Given the description of an element on the screen output the (x, y) to click on. 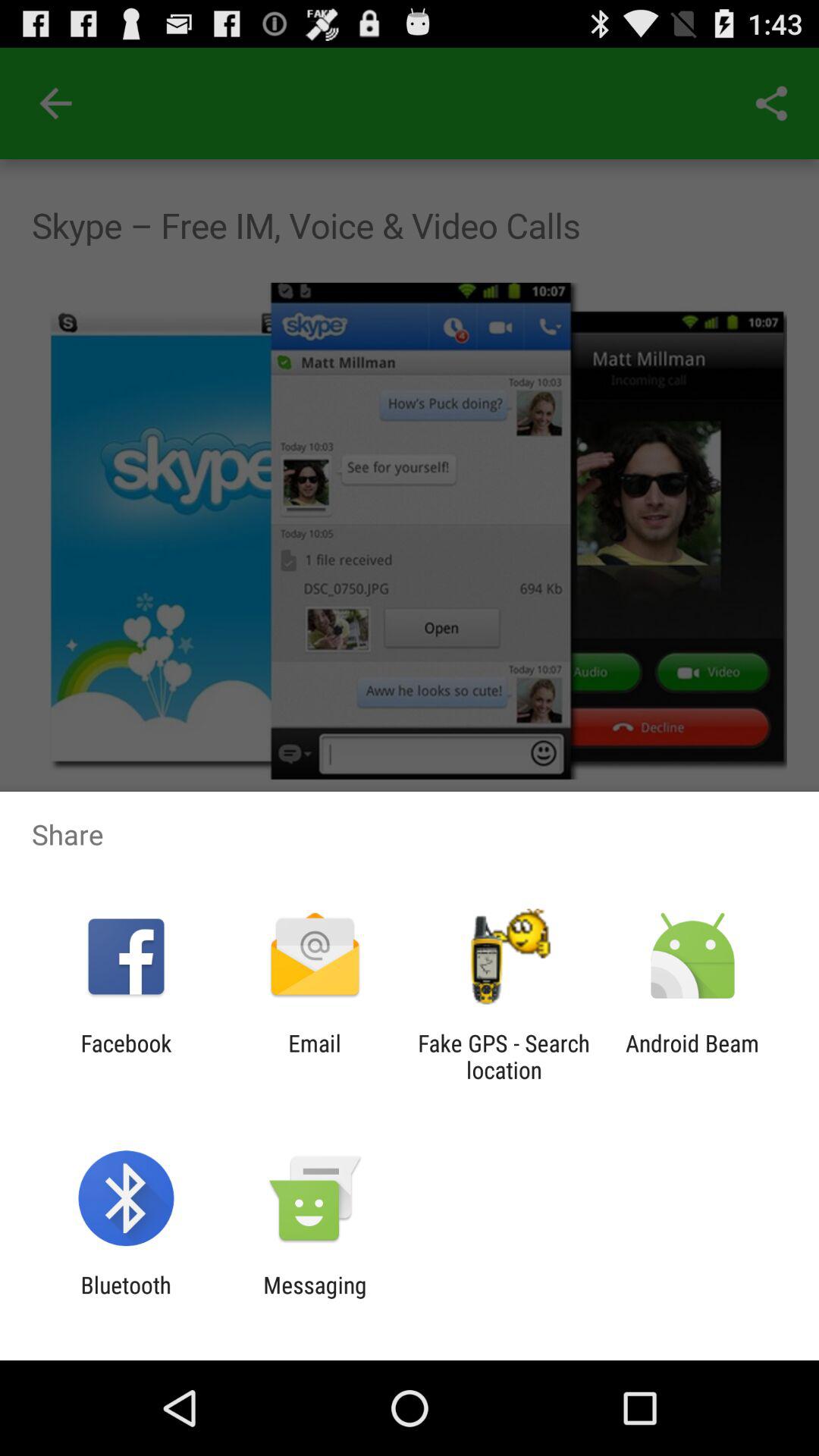
open app next to the facebook app (314, 1056)
